Given the description of an element on the screen output the (x, y) to click on. 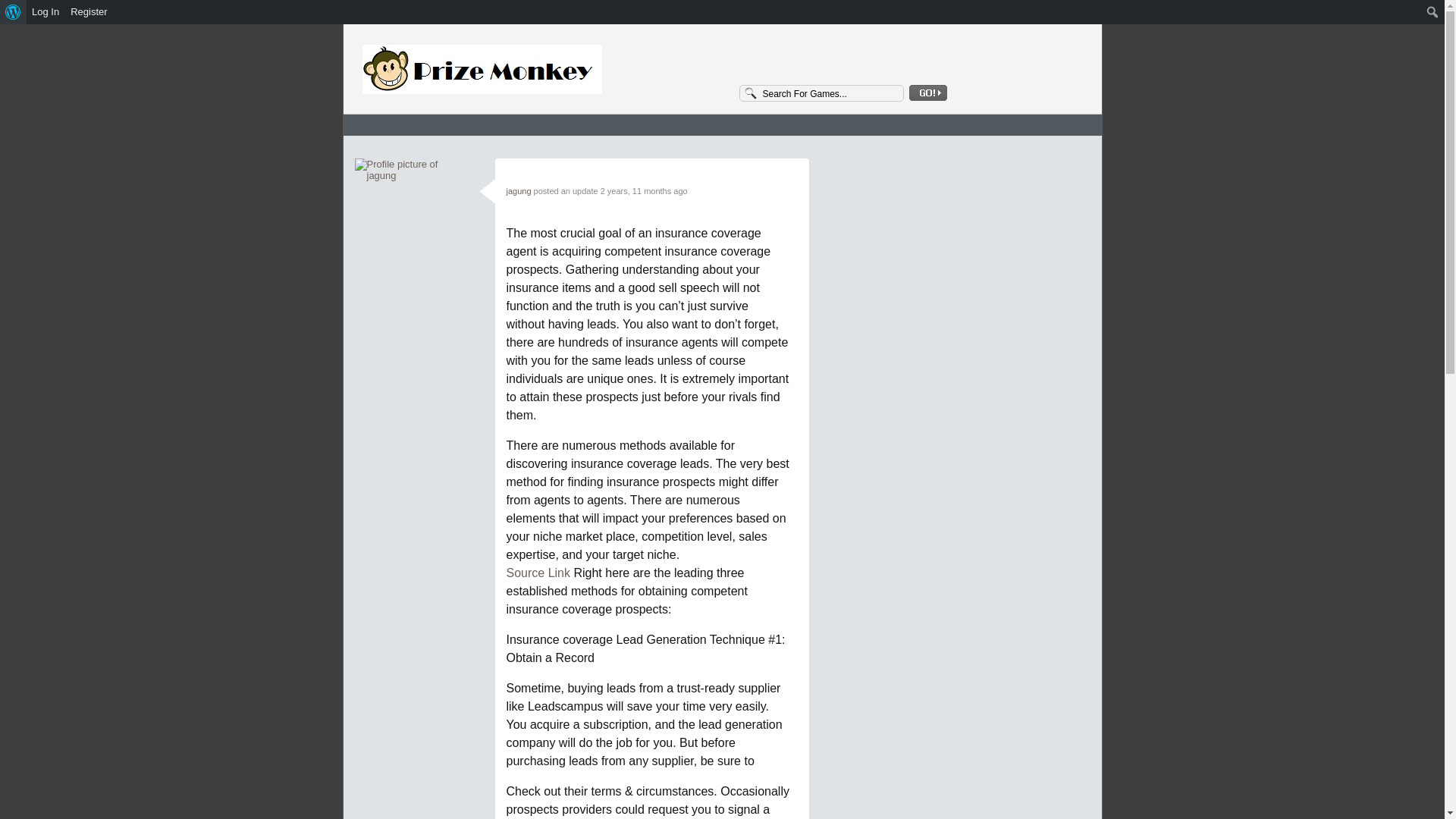
Log In Element type: text (45, 12)
Source Link Element type: text (538, 572)
jagung Element type: text (518, 190)
Search Element type: text (16, 12)
3StarOnly Element type: hover (527, 69)
Register Element type: text (88, 12)
